Given the description of an element on the screen output the (x, y) to click on. 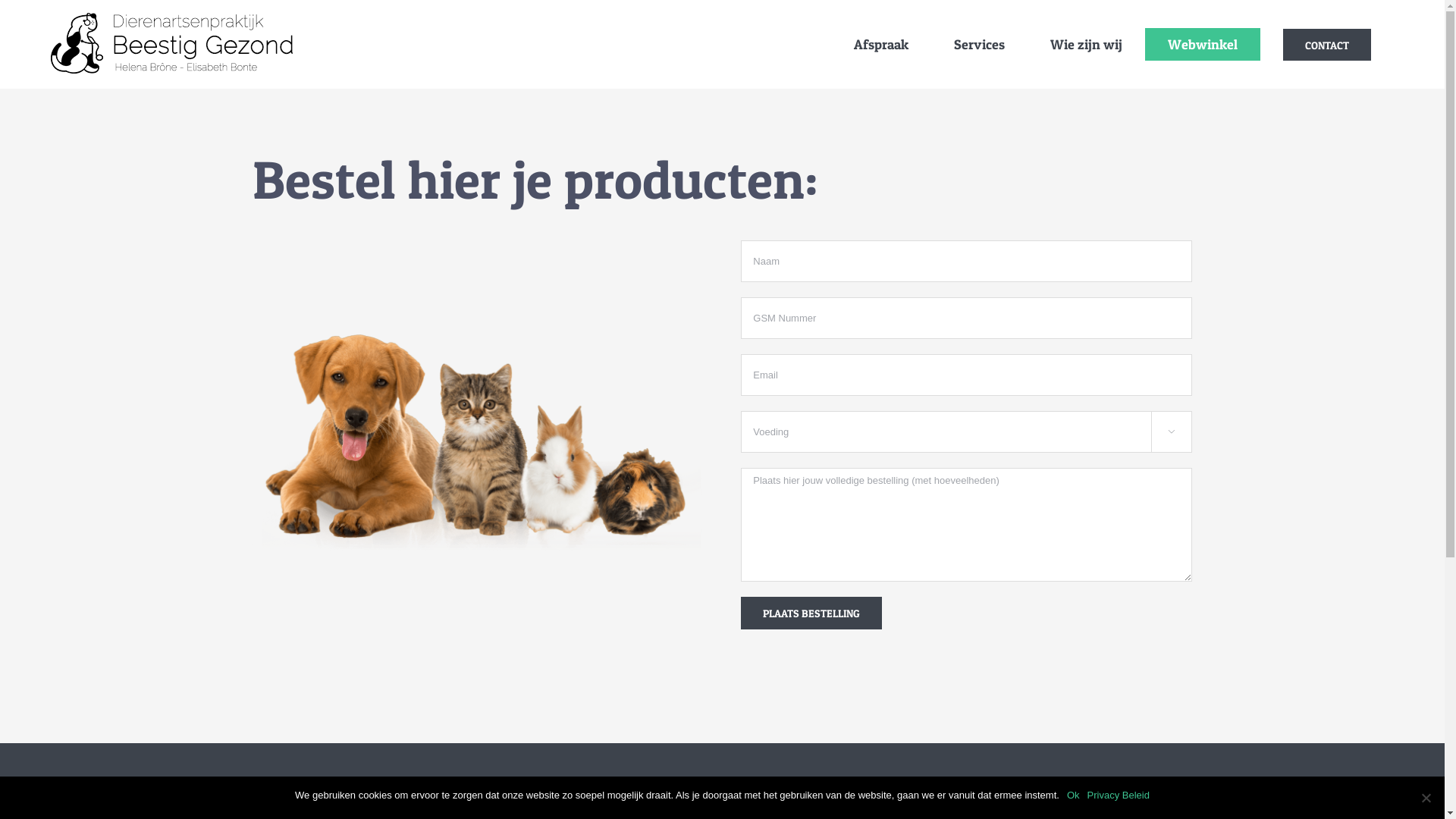
Privacy Beleid Element type: text (1118, 795)
Services Element type: text (979, 44)
Wie zijn wij Element type: text (1086, 44)
Webwinkel Element type: text (1202, 44)
Nee Element type: hover (1425, 797)
CONTACT Element type: text (1326, 44)
pets_big Element type: hover (476, 442)
Afspraak Element type: text (881, 44)
Ok Element type: text (1072, 795)
Plaats bestelling Element type: text (810, 612)
